Given the description of an element on the screen output the (x, y) to click on. 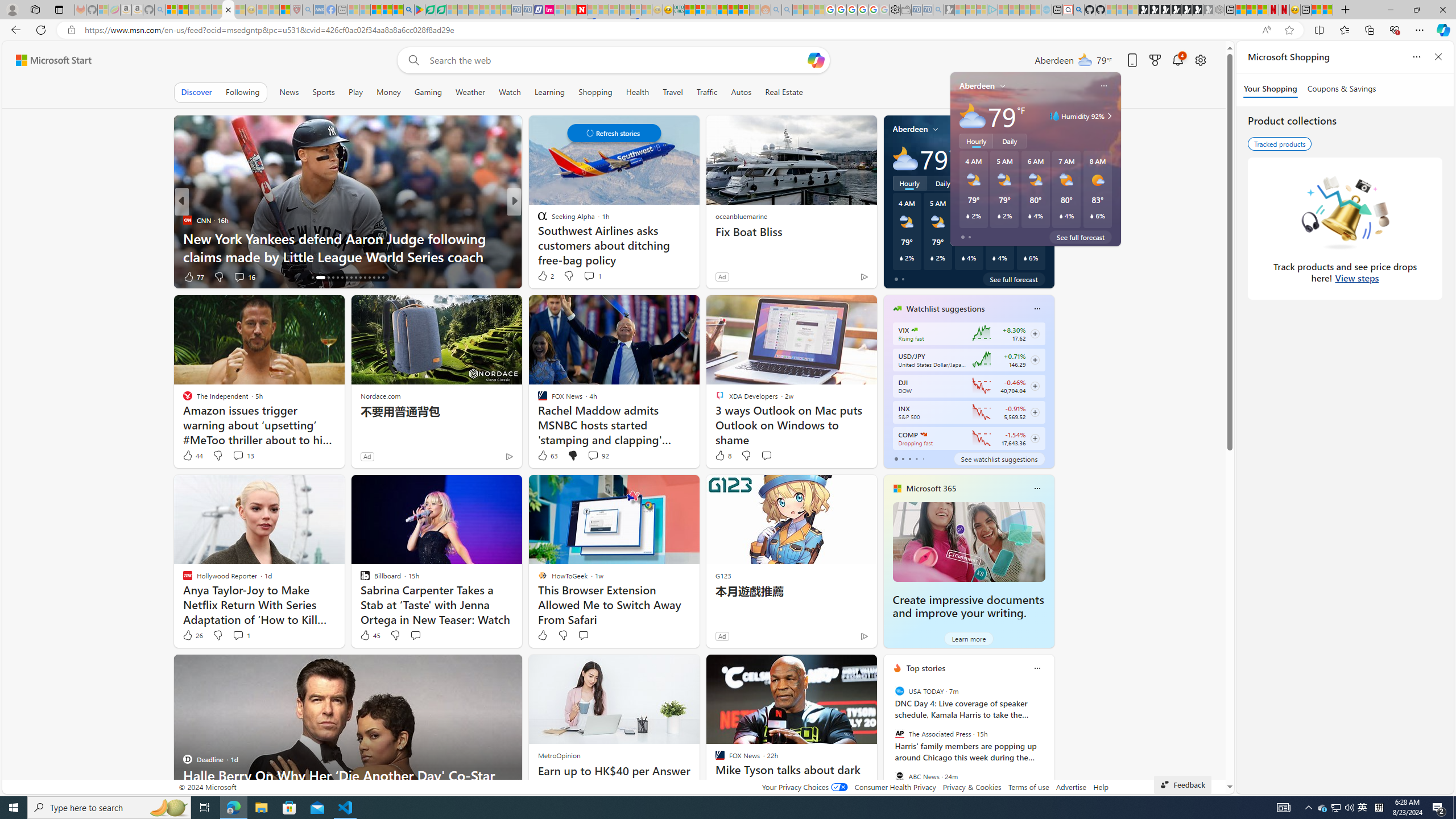
Earn up to HK$40 per Answer (613, 771)
Aberdeen (910, 128)
